Given the description of an element on the screen output the (x, y) to click on. 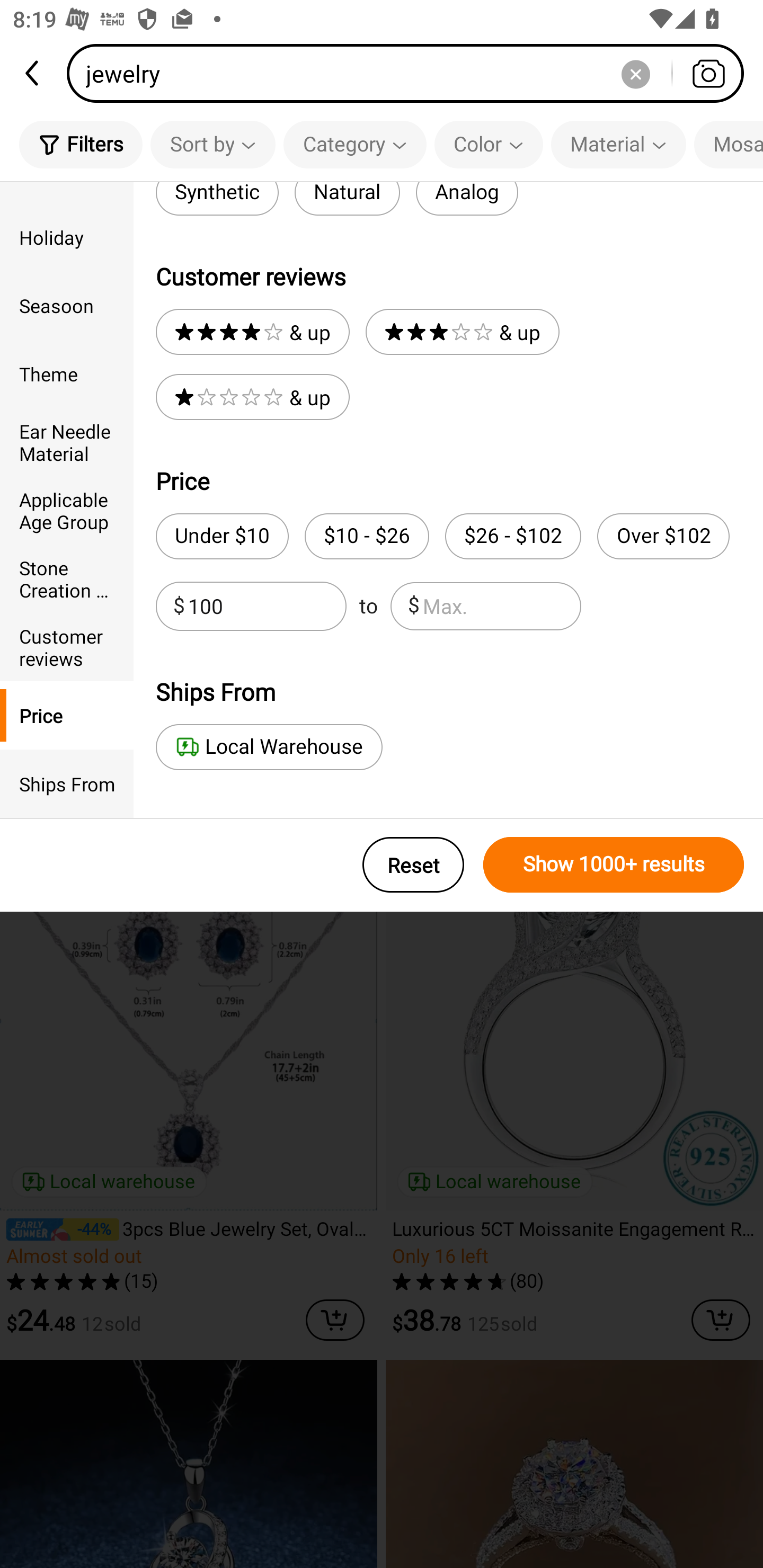
back (33, 72)
jewelry (411, 73)
Delete search history (635, 73)
Search by photo (708, 73)
Filters (80, 143)
Sort by (212, 143)
Category (354, 143)
Color (488, 143)
Material (617, 143)
Mosaic Material (728, 143)
Synthetic (216, 198)
Natural (346, 198)
Analog (466, 198)
Holiday (66, 236)
Seasoon (66, 305)
& up (252, 331)
& up (462, 331)
Theme (66, 373)
& up (252, 397)
Ear Needle Material (66, 441)
